Given the description of an element on the screen output the (x, y) to click on. 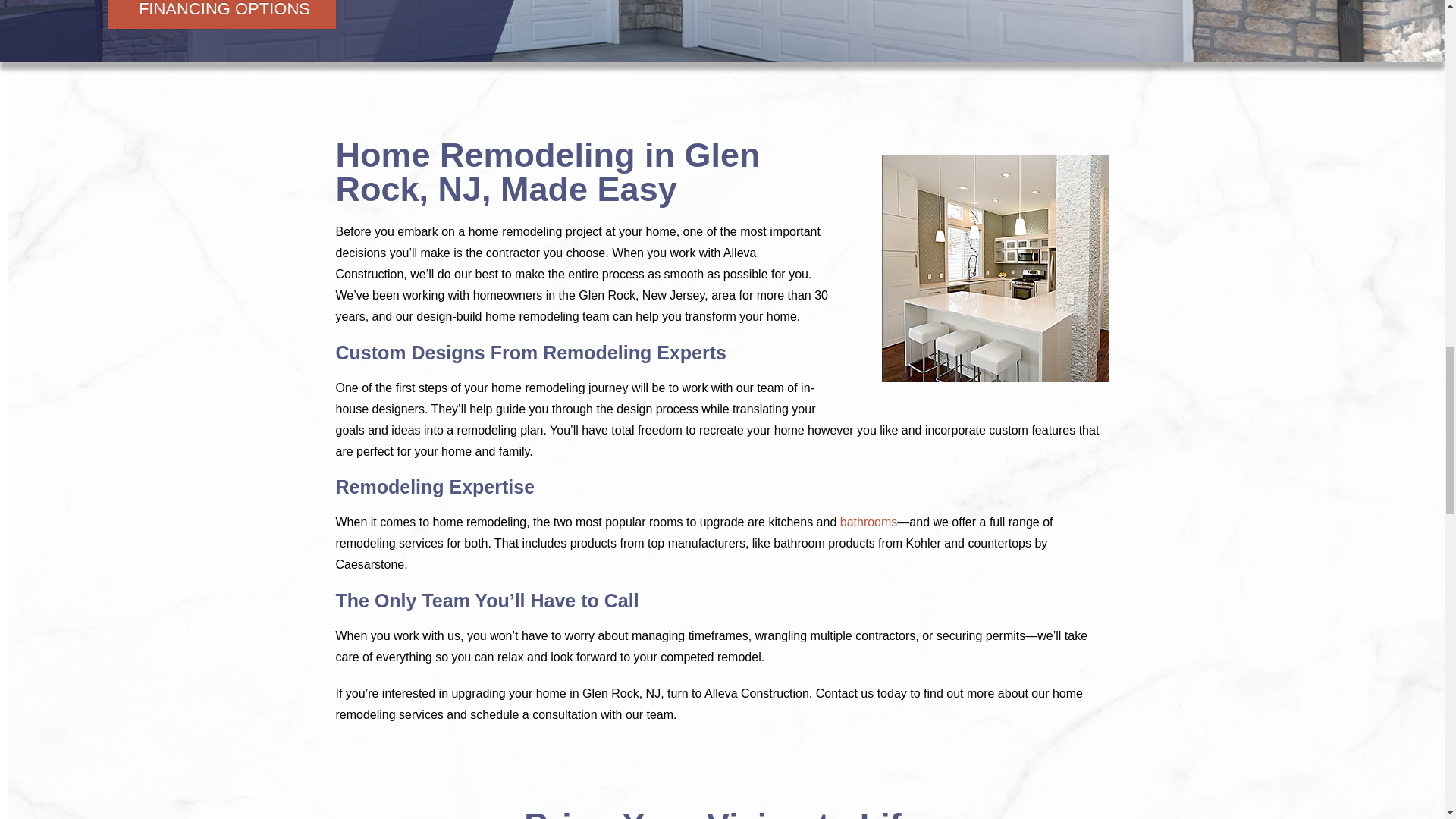
Home Remodeling Glen Rock NJ (994, 268)
